Given the description of an element on the screen output the (x, y) to click on. 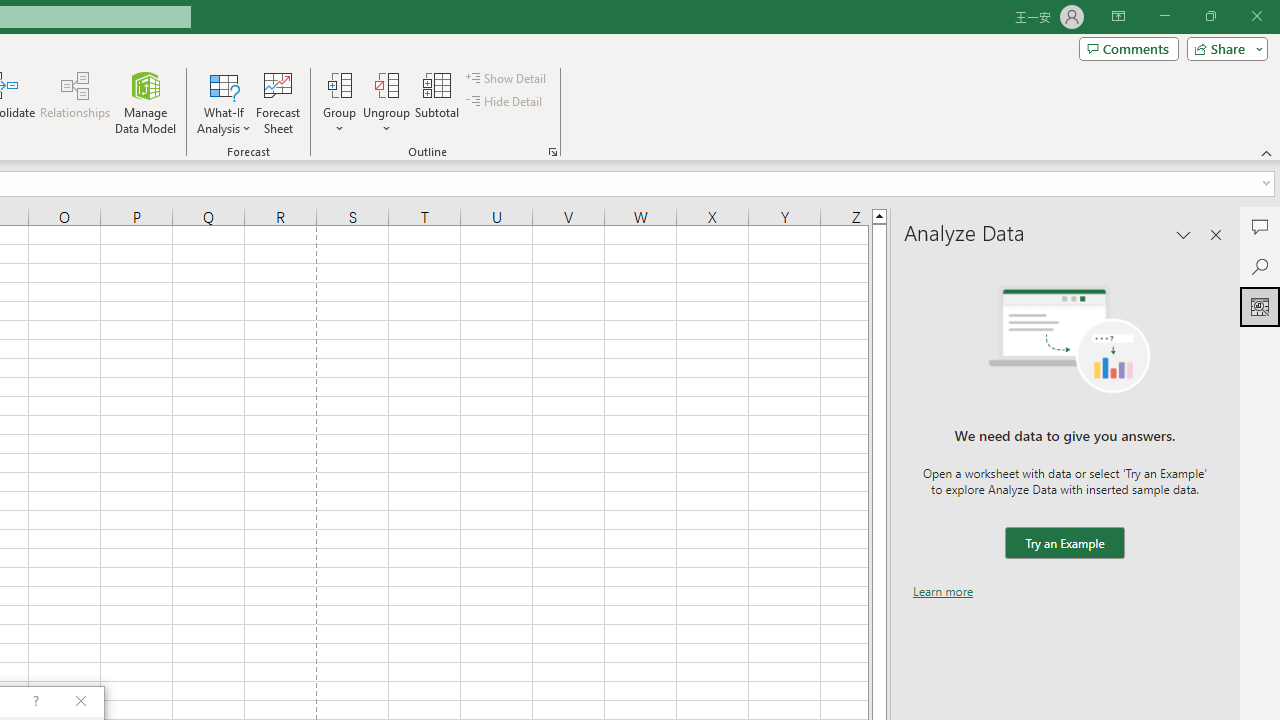
What-If Analysis (223, 102)
Analyze Data (1260, 306)
Subtotal (437, 102)
Minimize (1164, 16)
Comments (1260, 226)
Restore Down (1210, 16)
Ungroup... (386, 102)
Manage Data Model (145, 102)
Relationships (75, 102)
Ungroup... (386, 84)
Show Detail (507, 78)
Group and Outline Settings (552, 151)
Close pane (1215, 234)
Close (1256, 16)
